Given the description of an element on the screen output the (x, y) to click on. 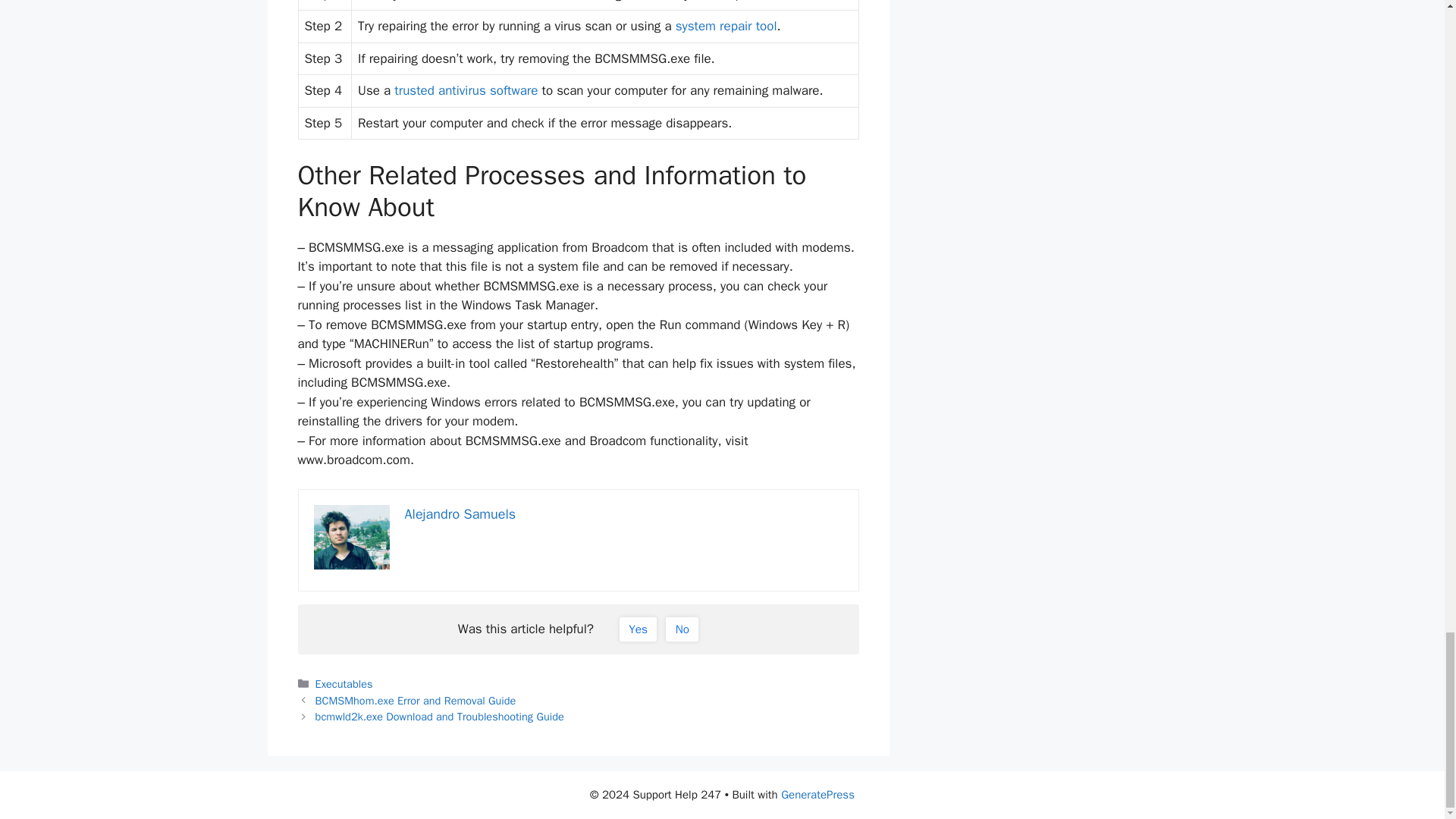
system repair tool (726, 26)
BCMSMhom.exe Error and Removal Guide (415, 700)
trusted antivirus software (465, 90)
bcmwld2k.exe Download and Troubleshooting Guide (439, 716)
Alejandro Samuels (460, 514)
Baiduplatform.exe Error and Removal Guide (465, 90)
GeneratePress (817, 794)
Executables (343, 684)
